Given the description of an element on the screen output the (x, y) to click on. 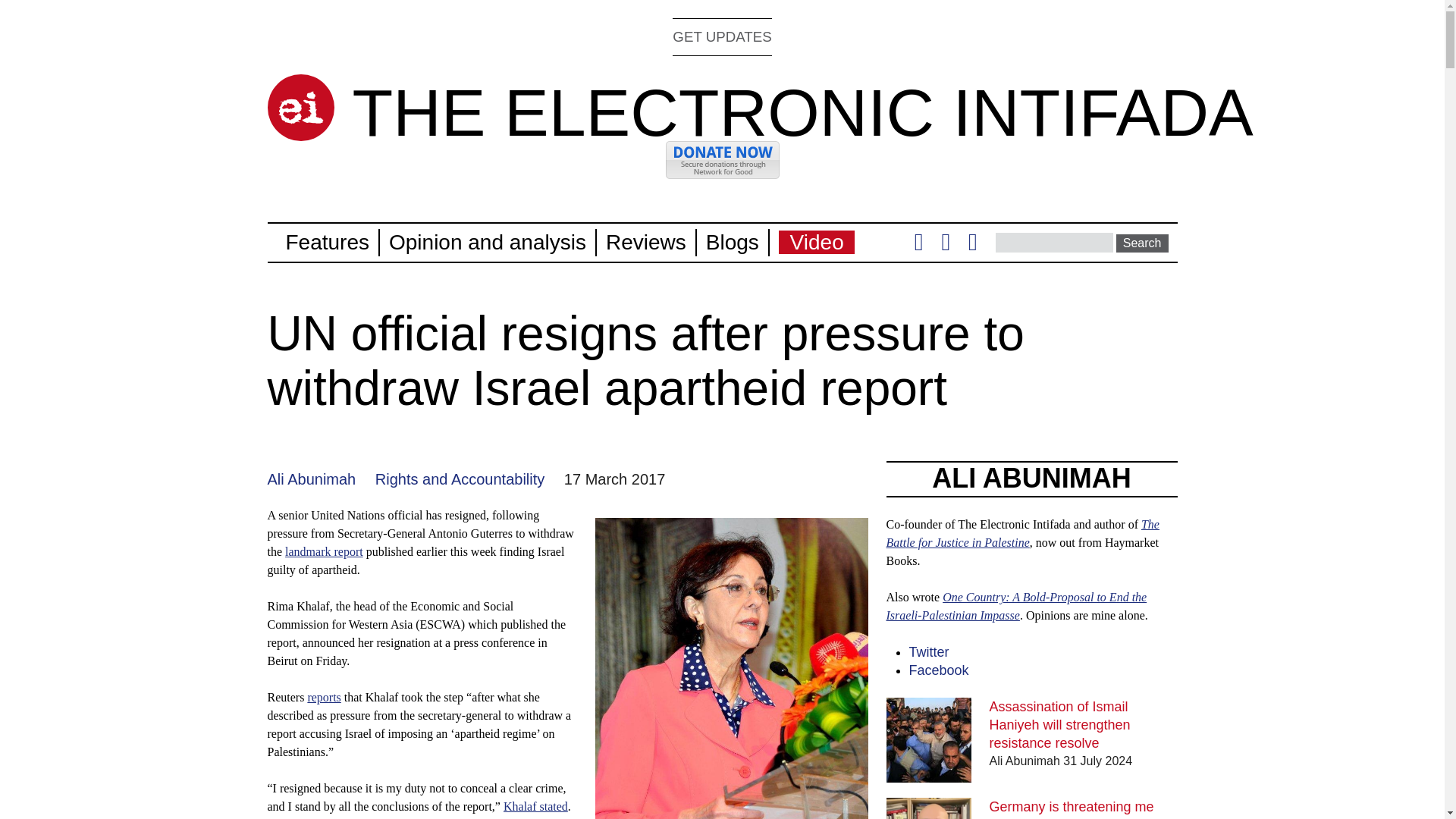
Home (299, 107)
reports (323, 697)
Home (802, 112)
Ali Abunimah (310, 478)
landmark report (323, 551)
Search (1142, 243)
THE ELECTRONIC INTIFADA (802, 112)
Rights and Accountability (459, 478)
Enter the terms you wish to search for. (1054, 242)
Khalaf stated (535, 806)
GET UPDATES (721, 37)
